Given the description of an element on the screen output the (x, y) to click on. 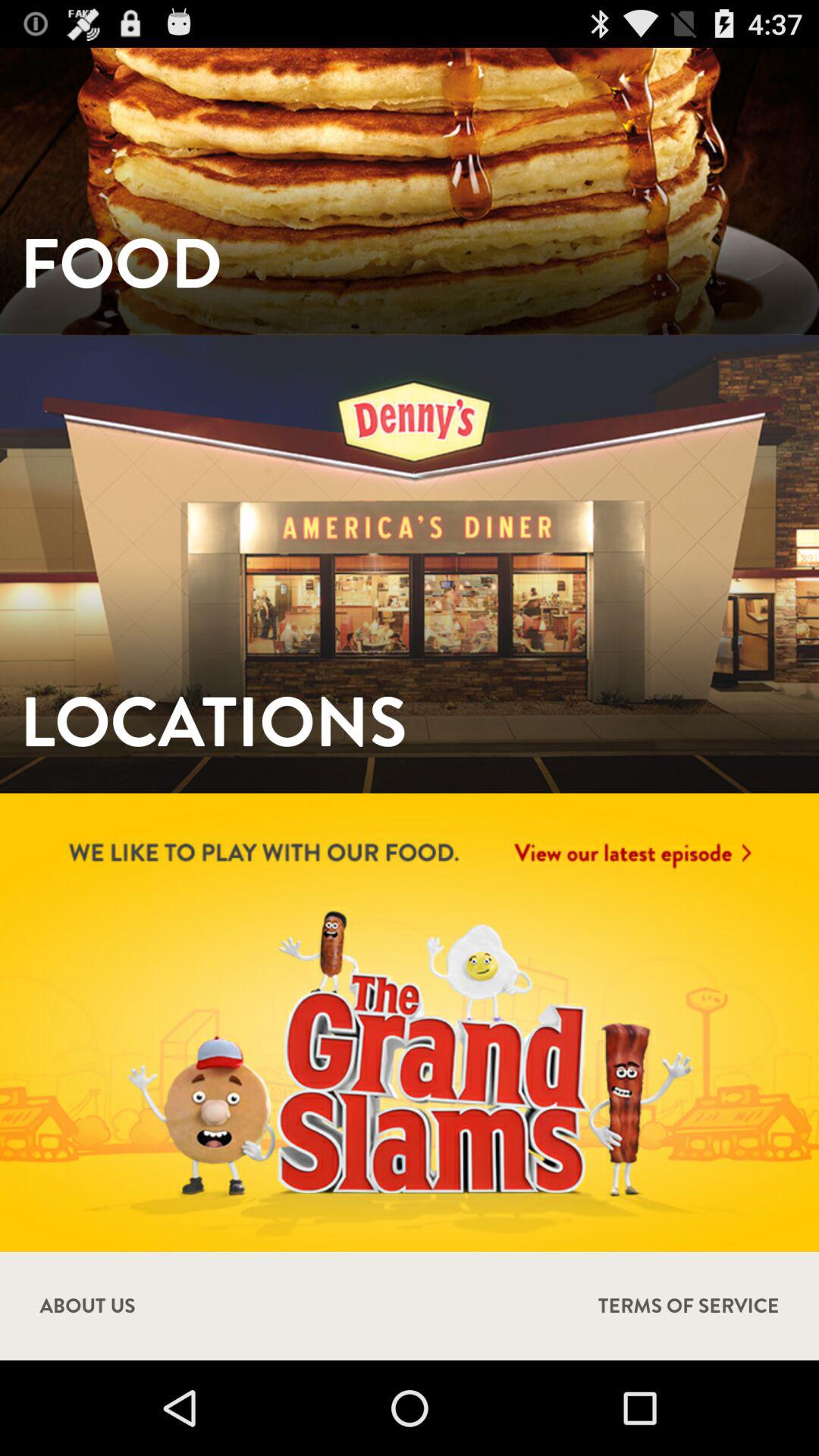
jump to terms of service (688, 1305)
